Given the description of an element on the screen output the (x, y) to click on. 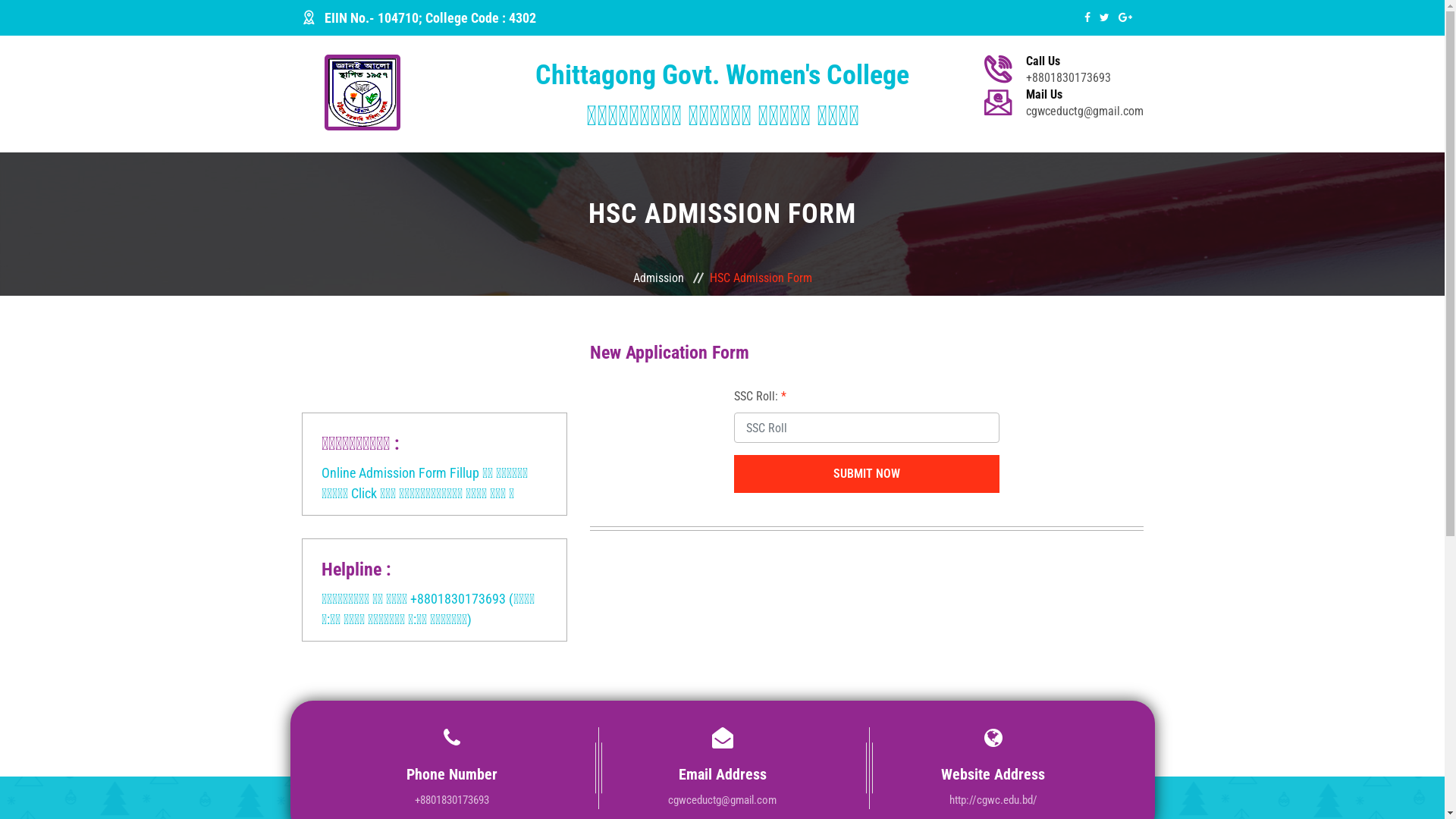
Call Us
+8801830173693 Element type: text (1083, 69)
Submit Now Element type: text (866, 473)
Admission Element type: text (669, 277)
Mail Us
cgwceductg@gmail.com Element type: text (1083, 102)
